Given the description of an element on the screen output the (x, y) to click on. 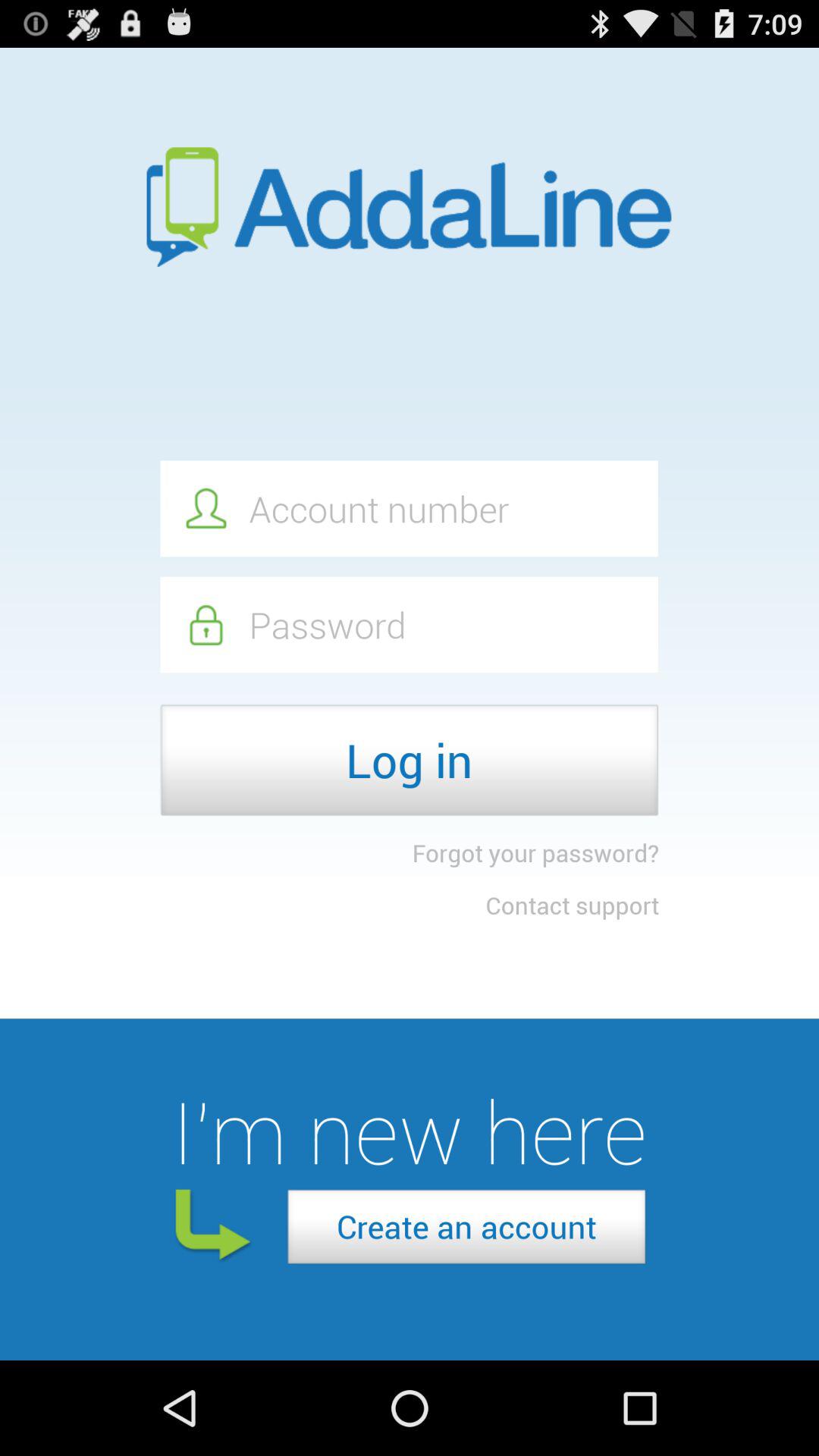
enter password (409, 624)
